Given the description of an element on the screen output the (x, y) to click on. 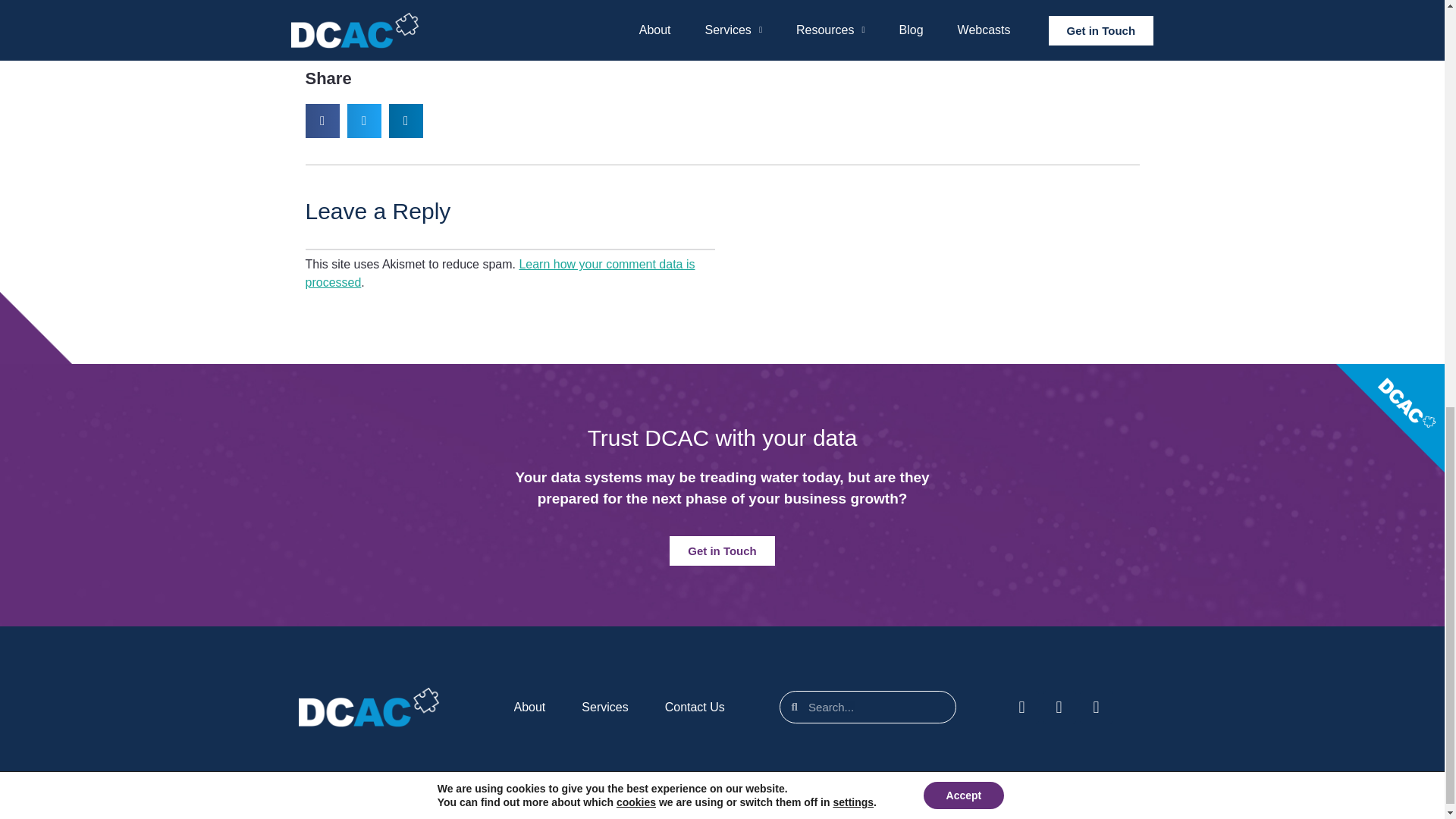
SQL Saturday 111 Slide Decks (725, 14)
